Given the description of an element on the screen output the (x, y) to click on. 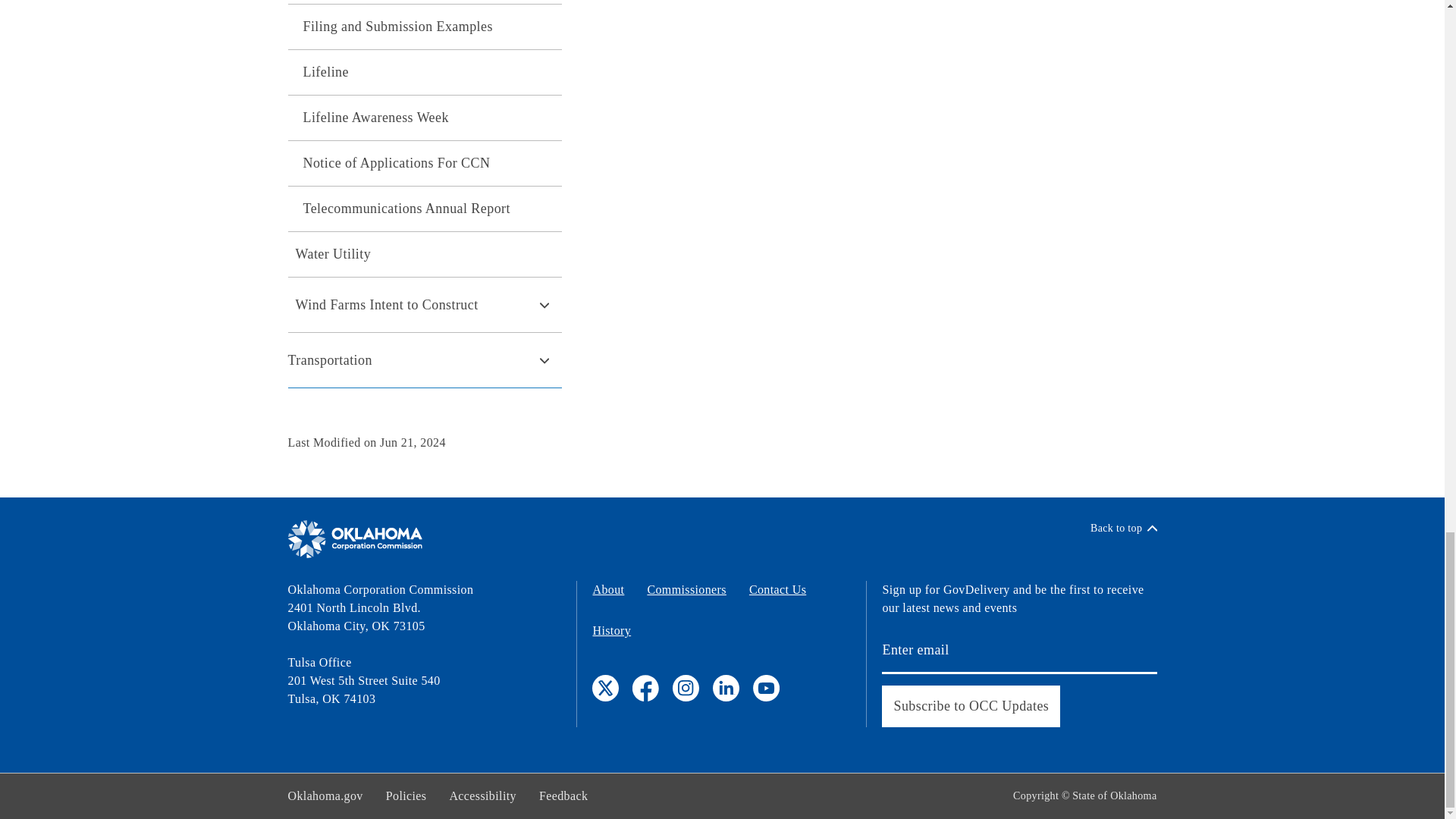
OCC Social Share Linkedin (726, 687)
OCC Social Share Instagram (685, 687)
OCC Social Share Youtube (765, 687)
OCC Social Share Twitter (605, 687)
OCC Social Share Facebook (645, 687)
back-to-top (1123, 528)
